Given the description of an element on the screen output the (x, y) to click on. 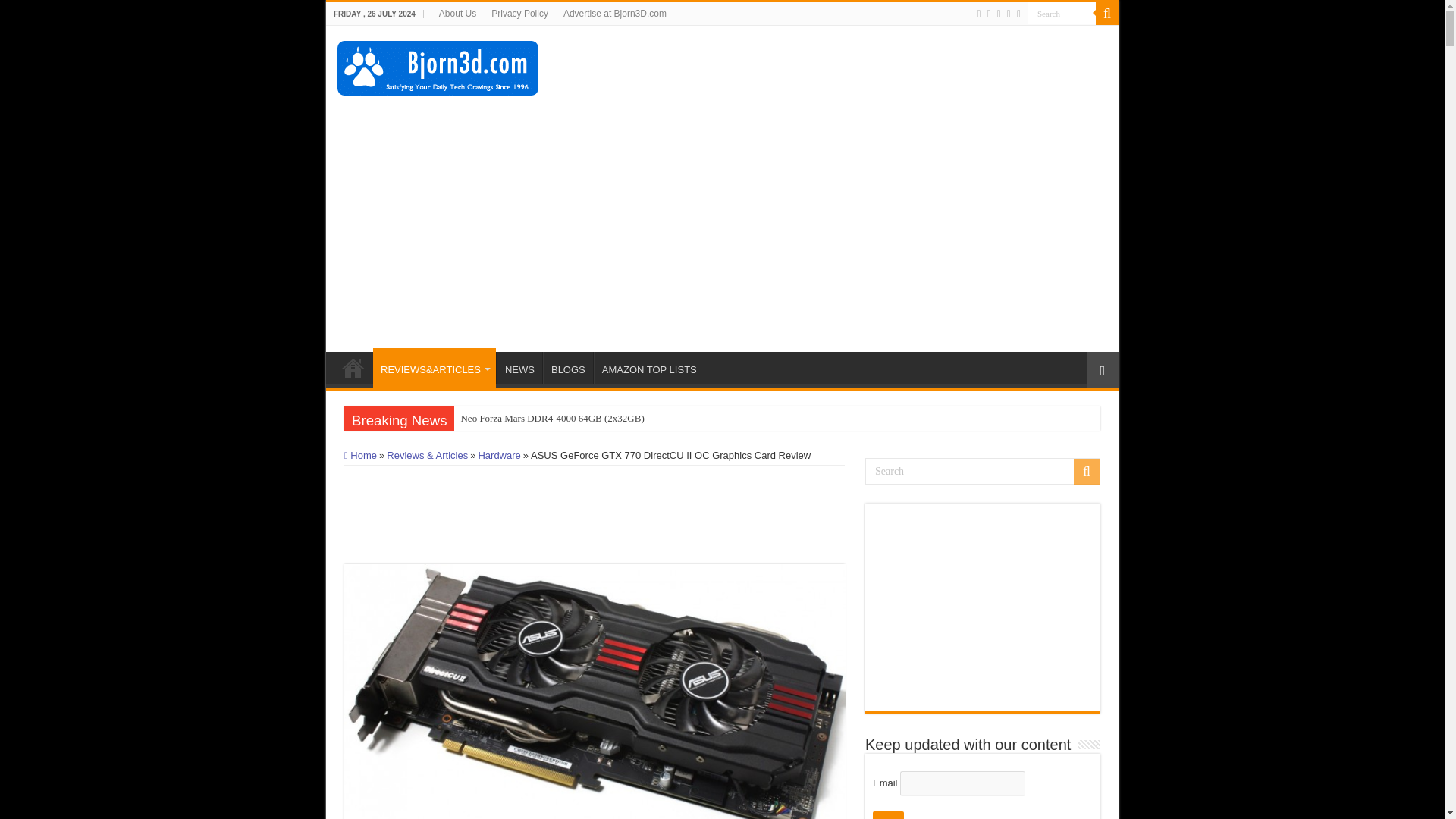
Search (1061, 13)
OK (888, 815)
Bjorn3D.com (437, 64)
Search (1061, 13)
Search (982, 470)
Advertisement (830, 74)
Search (1061, 13)
